Given the description of an element on the screen output the (x, y) to click on. 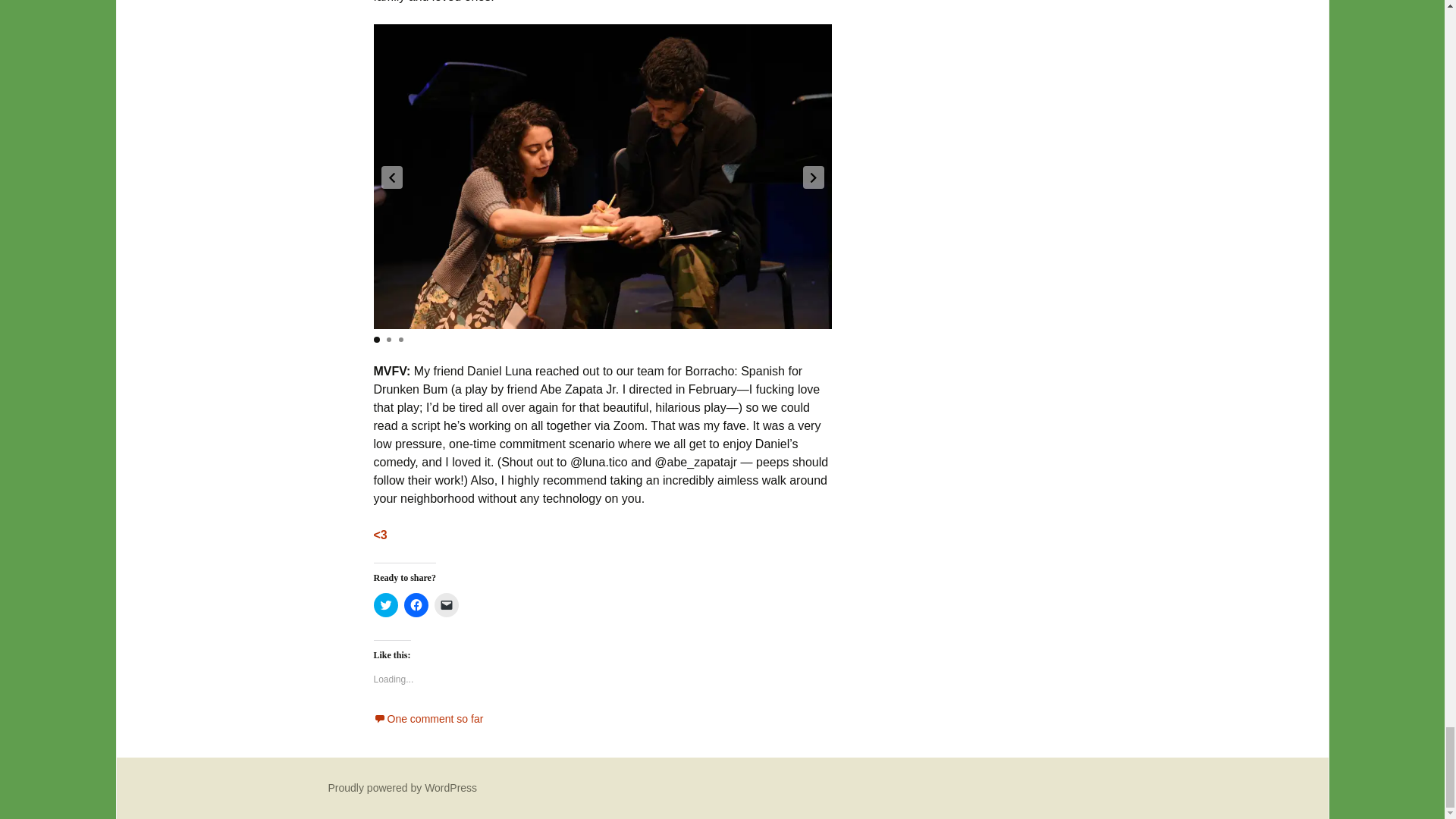
Click to share on Twitter (384, 604)
Click to email a link to a friend (445, 604)
Click to share on Facebook (415, 604)
